Given the description of an element on the screen output the (x, y) to click on. 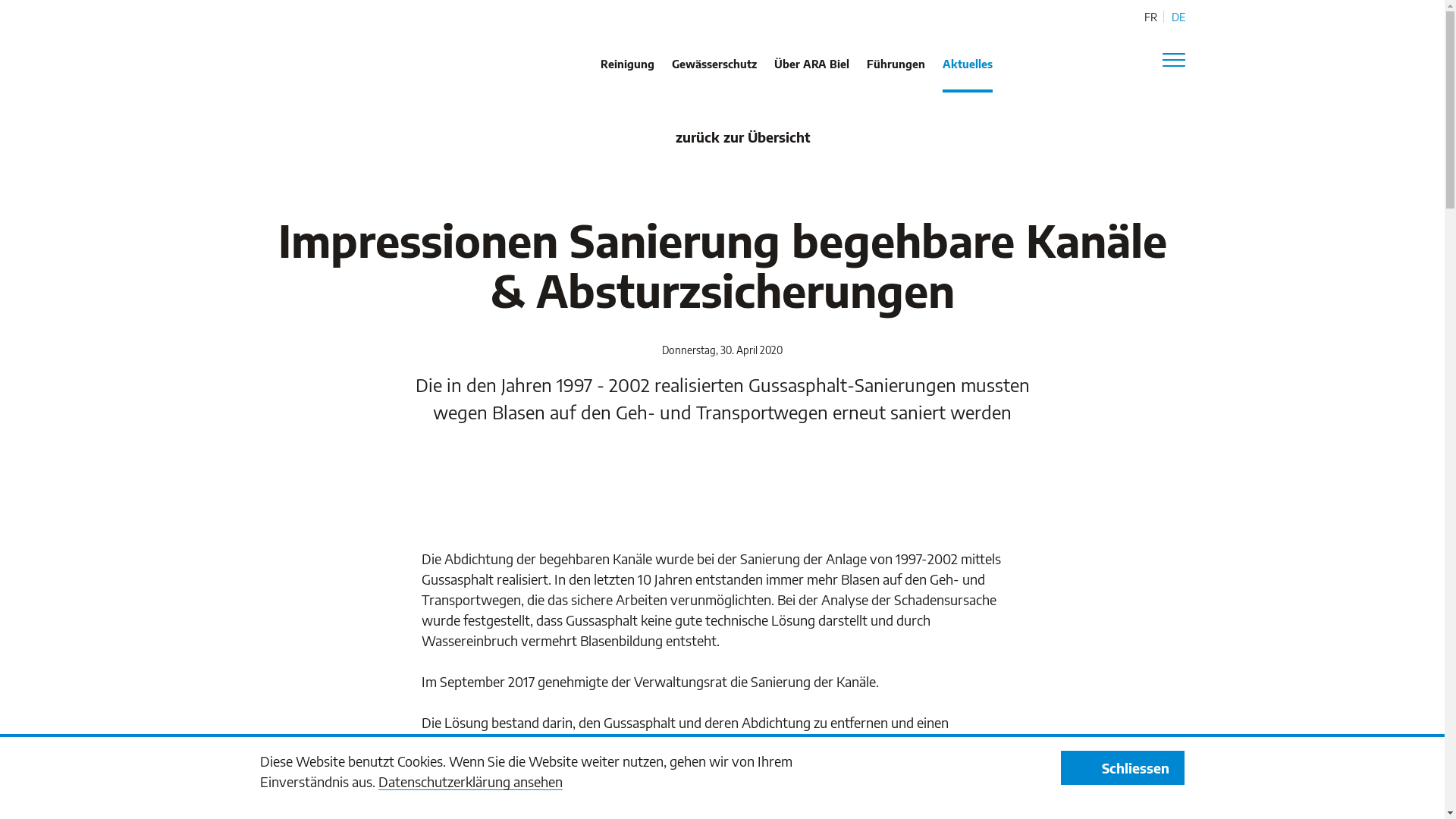
Aktuelles Element type: text (967, 74)
Schliessen Element type: text (1122, 767)
FR Element type: text (1149, 16)
DE Element type: text (1177, 16)
Reinigung Element type: text (627, 74)
ARA Region Biel AG
Abwasserreinigungsanlage Element type: text (319, 54)
